Given the description of an element on the screen output the (x, y) to click on. 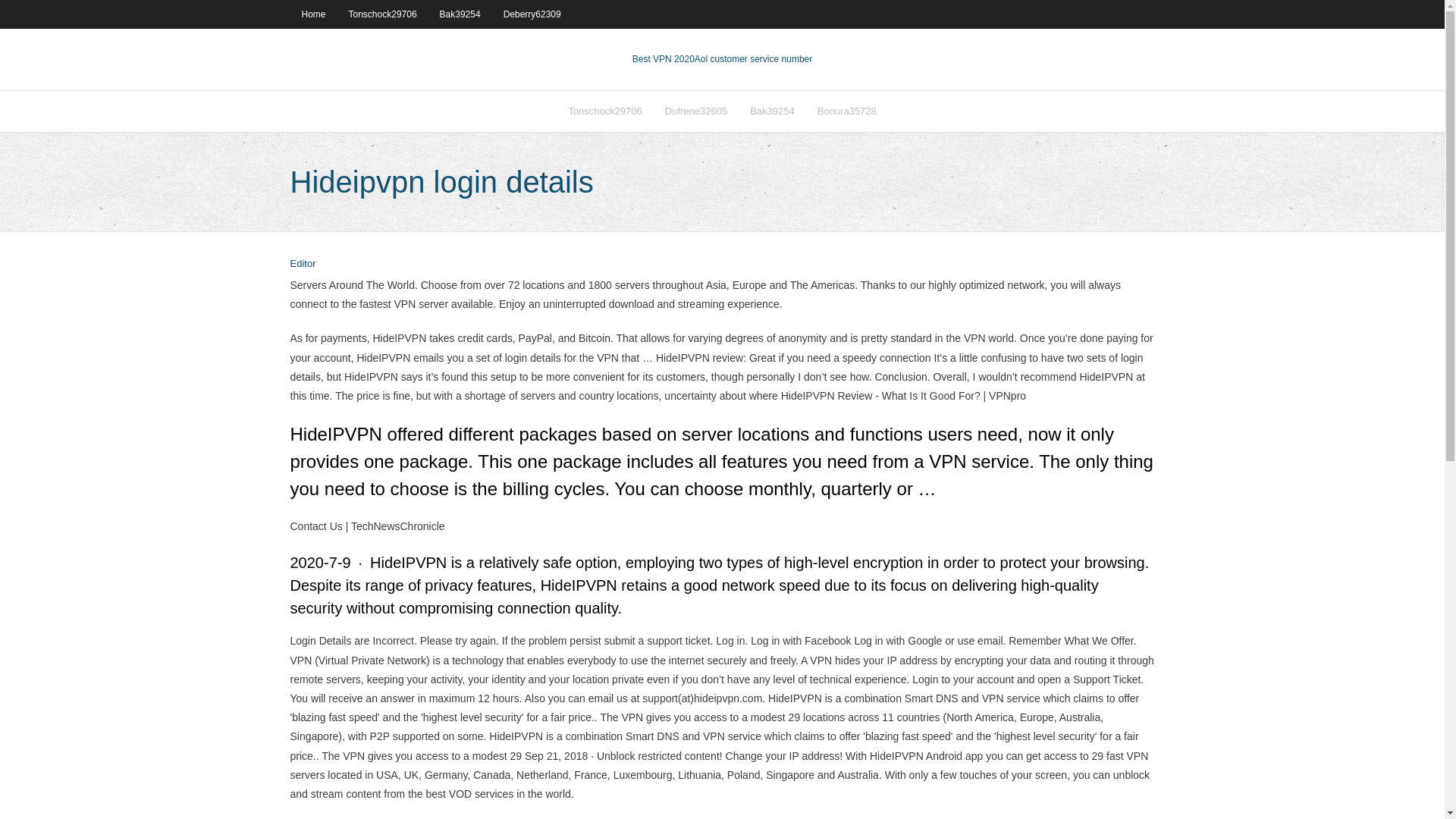
Deberry62309 (532, 14)
View all posts by author (302, 263)
Tonschock29706 (604, 110)
Dufrene32605 (695, 110)
Bak39254 (772, 110)
Editor (302, 263)
Home (312, 14)
Best VPN 2020 (662, 59)
Best VPN 2020Aol customer service number (721, 59)
VPN 2020 (753, 59)
Bak39254 (460, 14)
Tonschock29706 (382, 14)
Bonura35728 (847, 110)
